Given the description of an element on the screen output the (x, y) to click on. 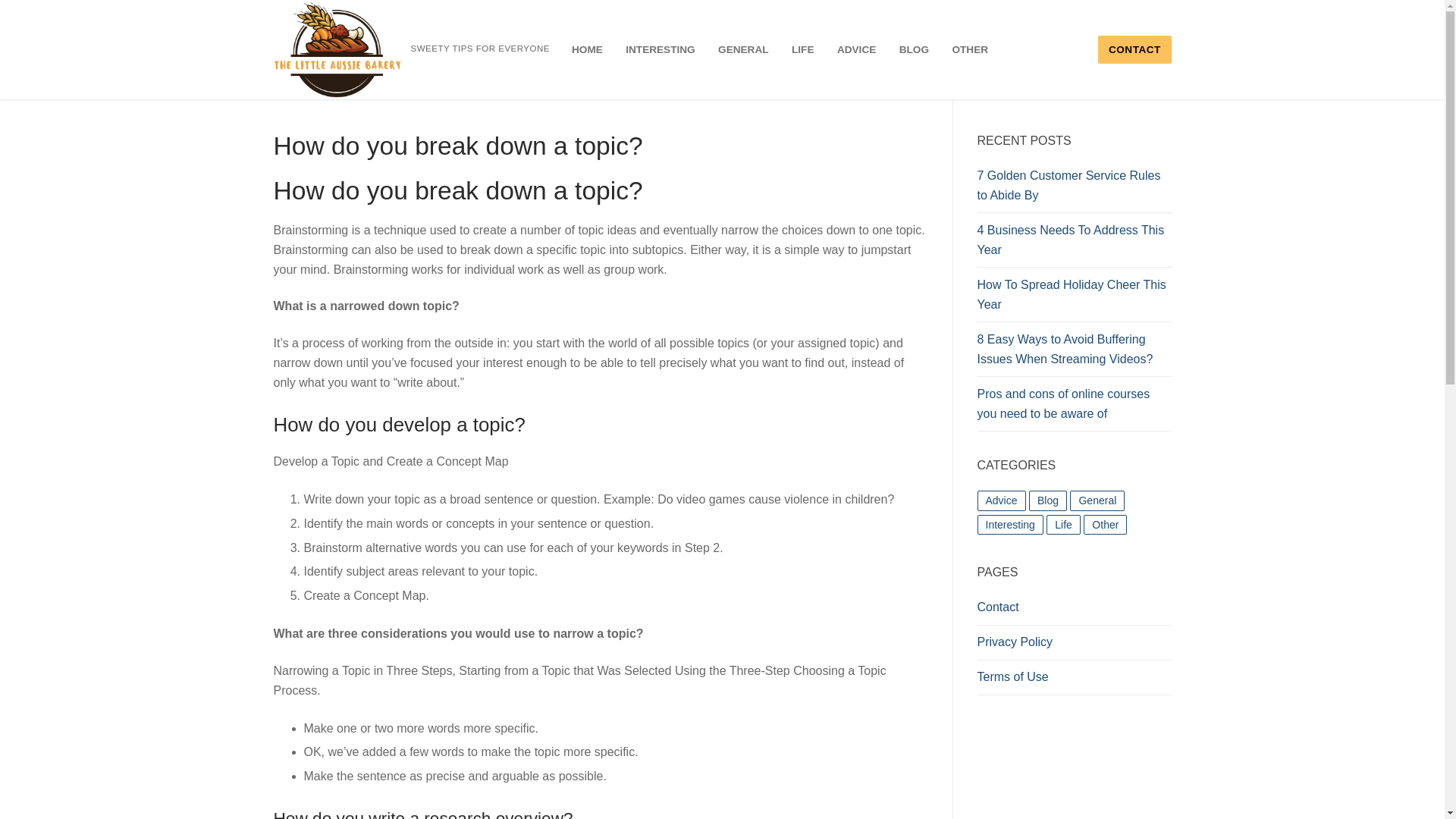
How To Spread Holiday Cheer This Year (1073, 298)
Other (1104, 525)
OTHER (969, 50)
HOME (587, 50)
Privacy Policy (1073, 646)
INTERESTING (659, 50)
Blog (1048, 500)
Pros and cons of online courses you need to be aware of (1073, 407)
Terms of Use (1073, 680)
ADVICE (856, 50)
